Given the description of an element on the screen output the (x, y) to click on. 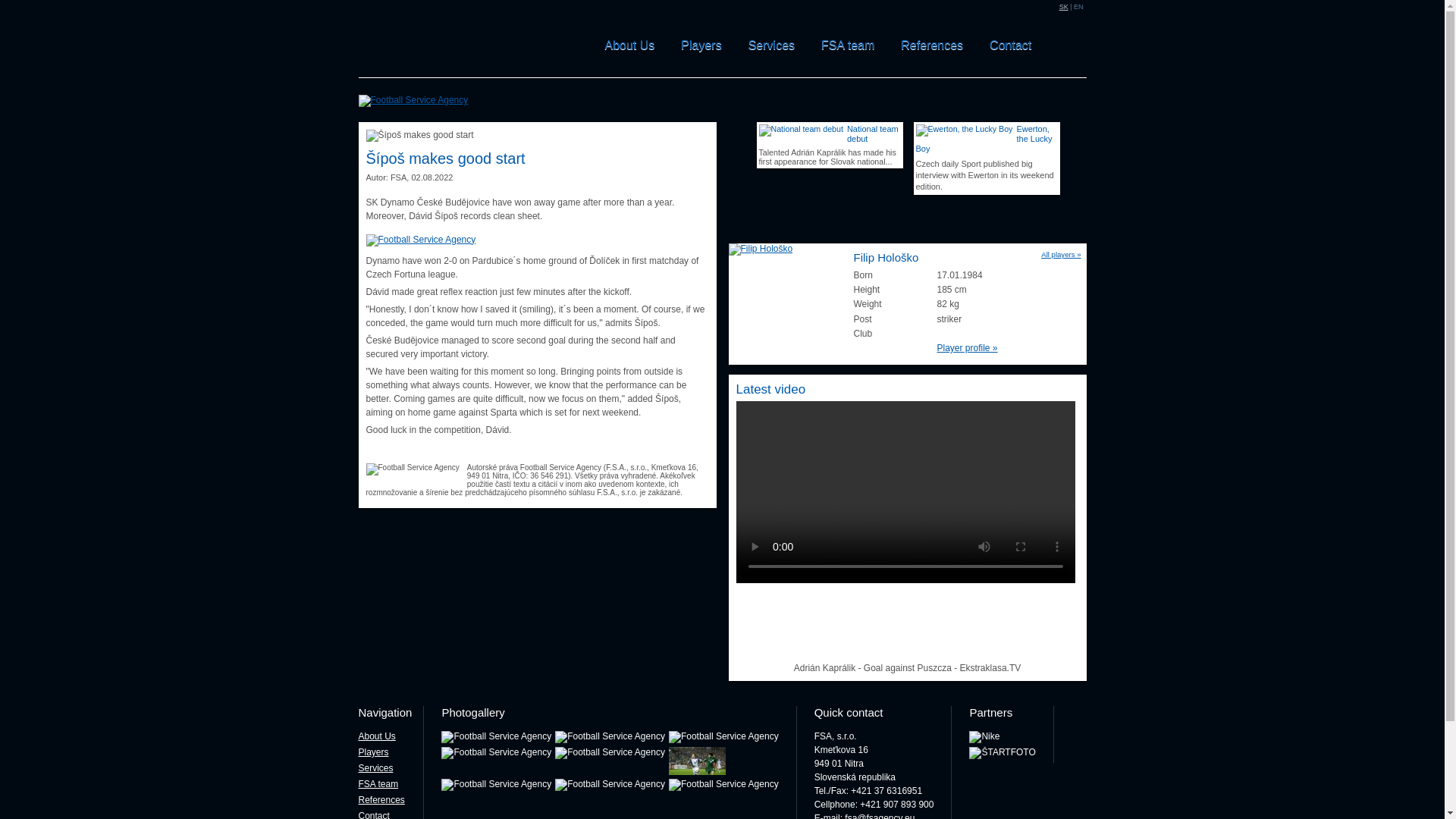
Ewerton, the Lucky Boy (964, 130)
National team debut (800, 130)
Ewerton, the Lucky Boy (986, 141)
Football Service Agency (609, 736)
Contact (1010, 44)
National team debut (828, 140)
FSA team (848, 44)
About Us (630, 44)
Players (700, 44)
Services (771, 44)
